Given the description of an element on the screen output the (x, y) to click on. 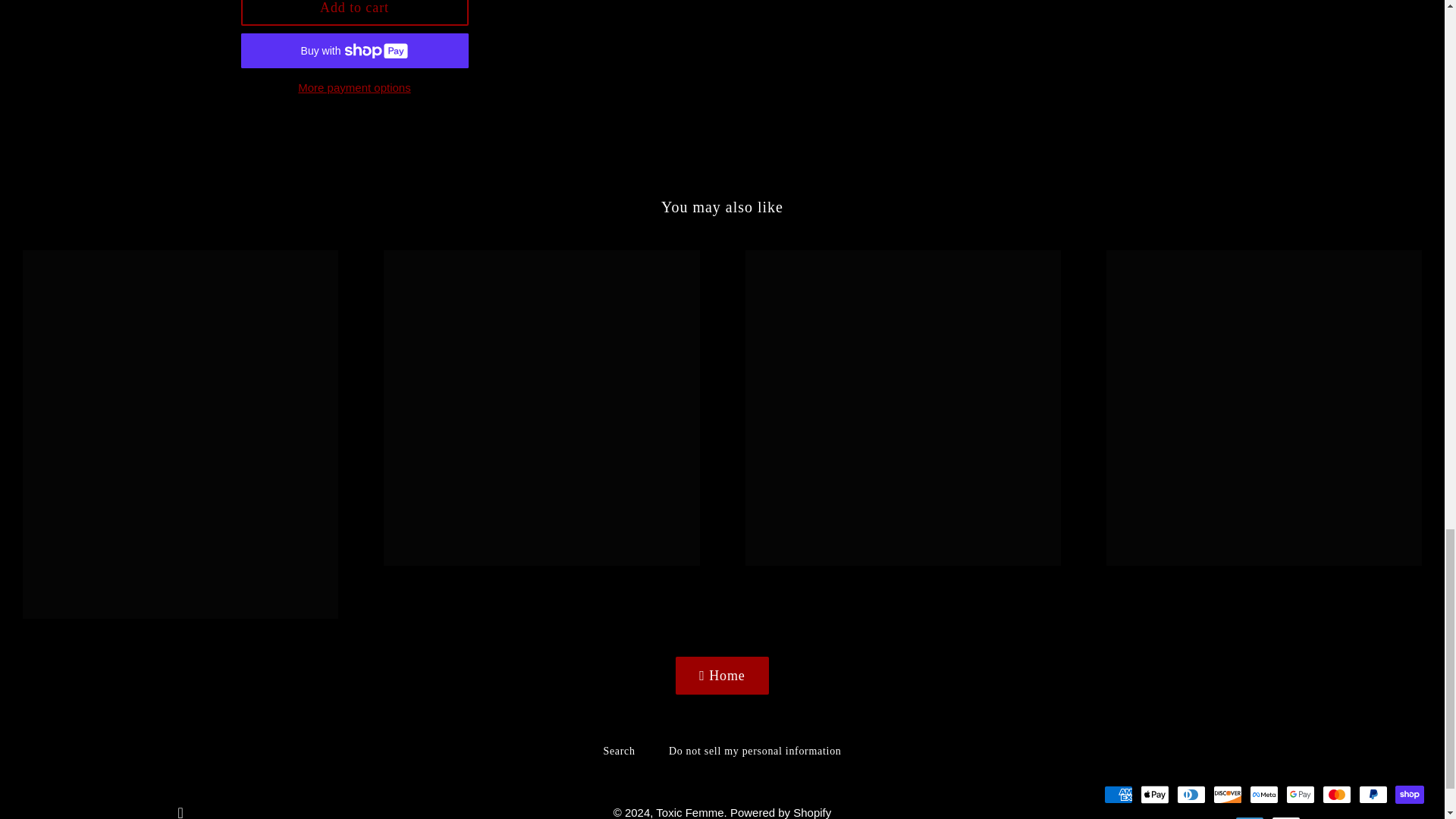
Search (618, 751)
Diners Club (1190, 794)
Home (721, 675)
Visa (1285, 817)
Add to cart (354, 12)
PayPal (1372, 794)
Toxic Femme (689, 812)
Mastercard (1336, 794)
Shop Pay (1408, 794)
American Express (1117, 794)
